Given the description of an element on the screen output the (x, y) to click on. 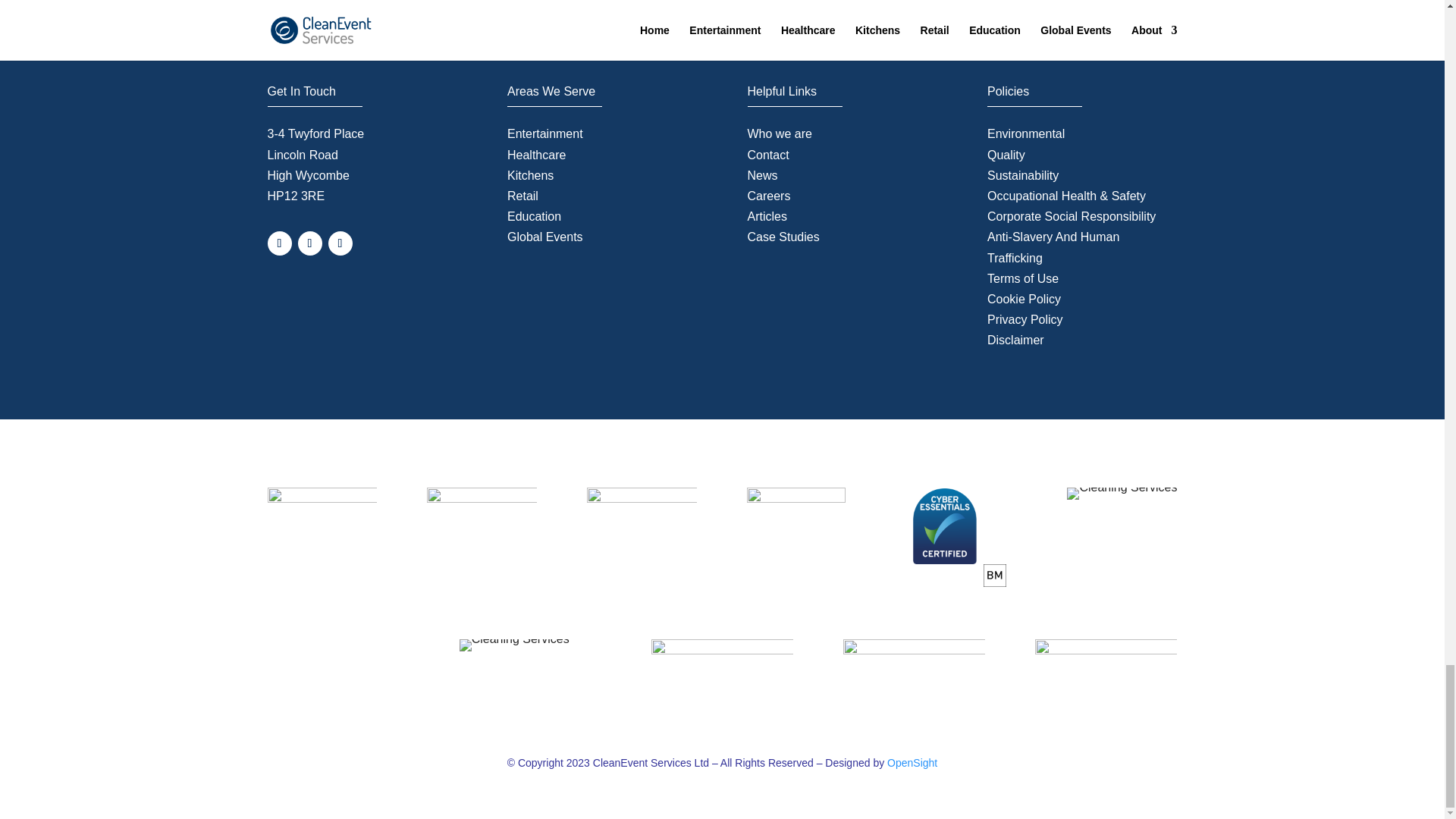
Entertainment (544, 133)
ISO9001 (514, 645)
ISO45001 (914, 668)
CSSA (1105, 667)
News (762, 174)
Environmental (1025, 133)
Corporate Social Responsibility (1071, 215)
BASIS (321, 502)
Follow on Facebook (278, 242)
Careers (769, 195)
